Given the description of an element on the screen output the (x, y) to click on. 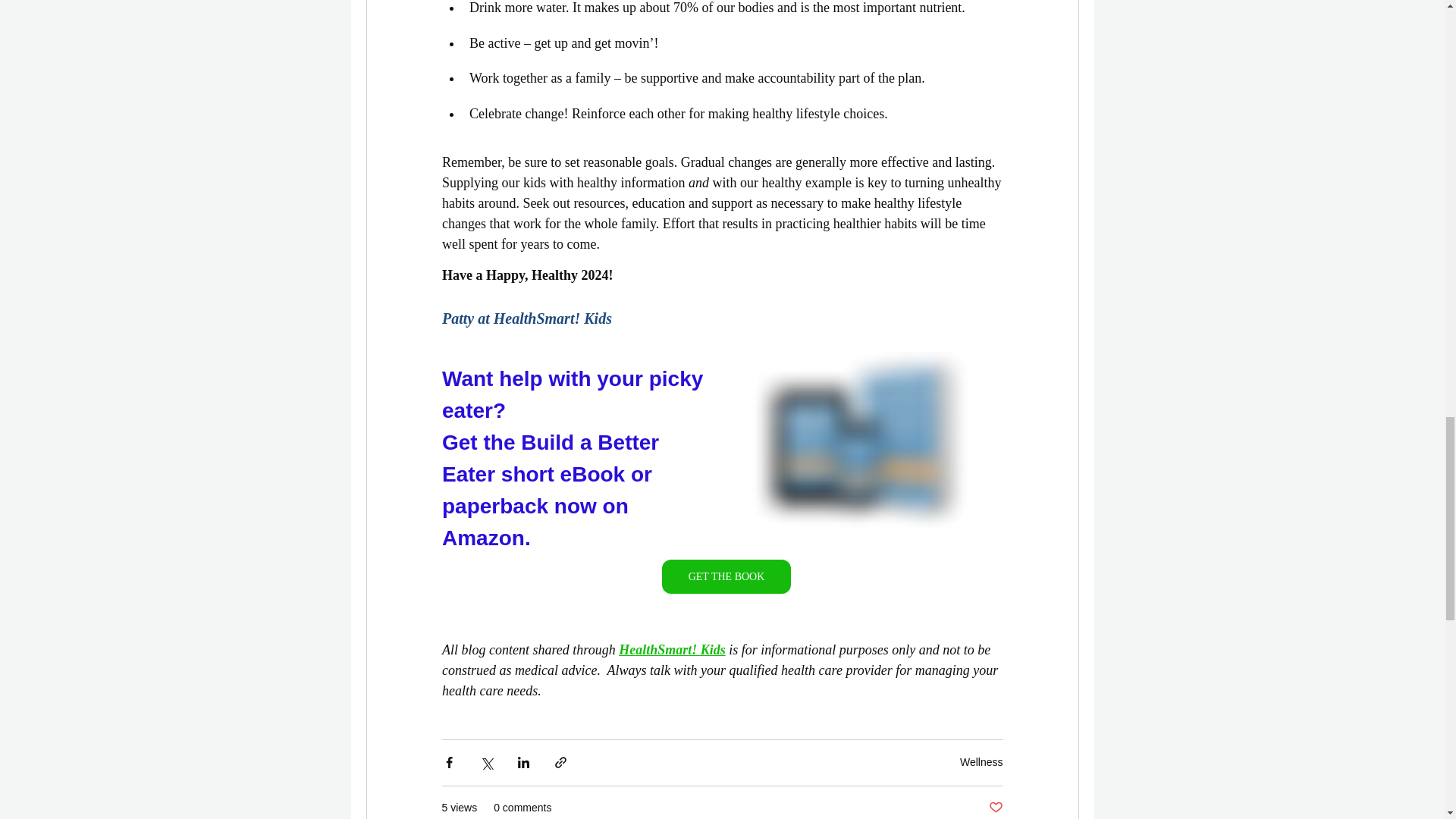
Patty at HealthSmart! Kids (526, 319)
GET THE BOOK (725, 576)
Wellness (981, 761)
Post not marked as liked (995, 807)
HealthSmart! Kids (671, 649)
